Given the description of an element on the screen output the (x, y) to click on. 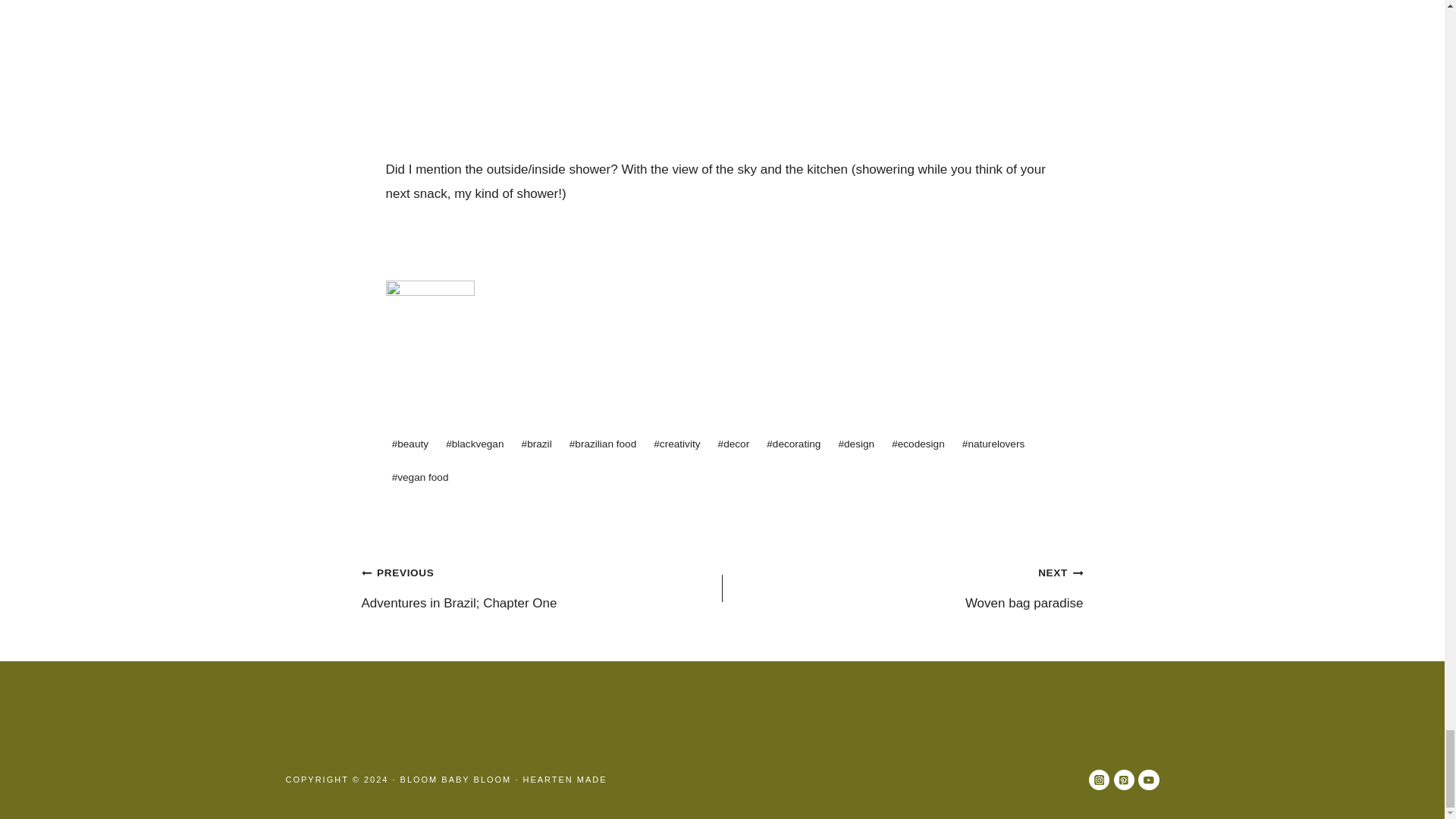
decorating (793, 444)
blackvegan (475, 444)
ecodesign (917, 444)
brazil (536, 444)
decor (733, 444)
creativity (676, 444)
design (855, 444)
brazilian food (603, 444)
beauty (409, 444)
naturelovers (993, 444)
